Given the description of an element on the screen output the (x, y) to click on. 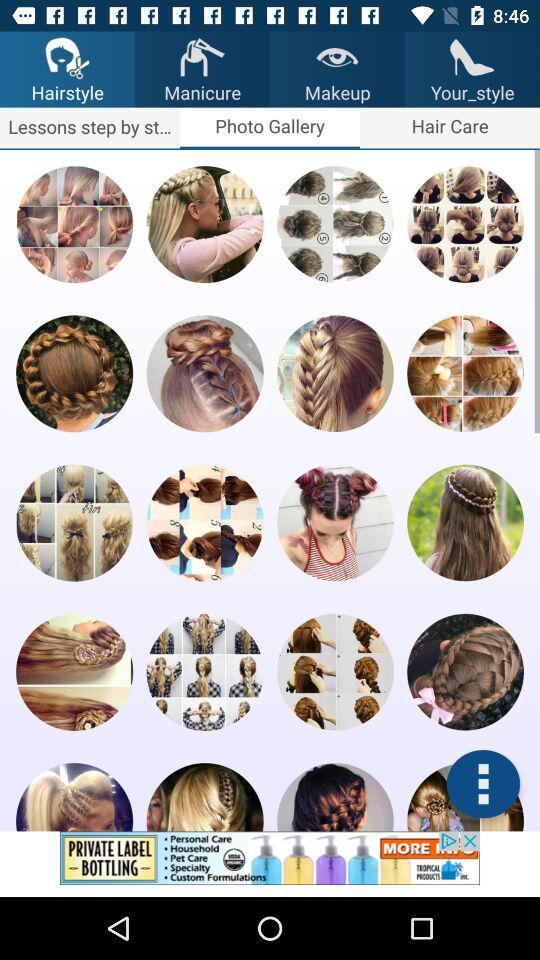
open photo (204, 373)
